Given the description of an element on the screen output the (x, y) to click on. 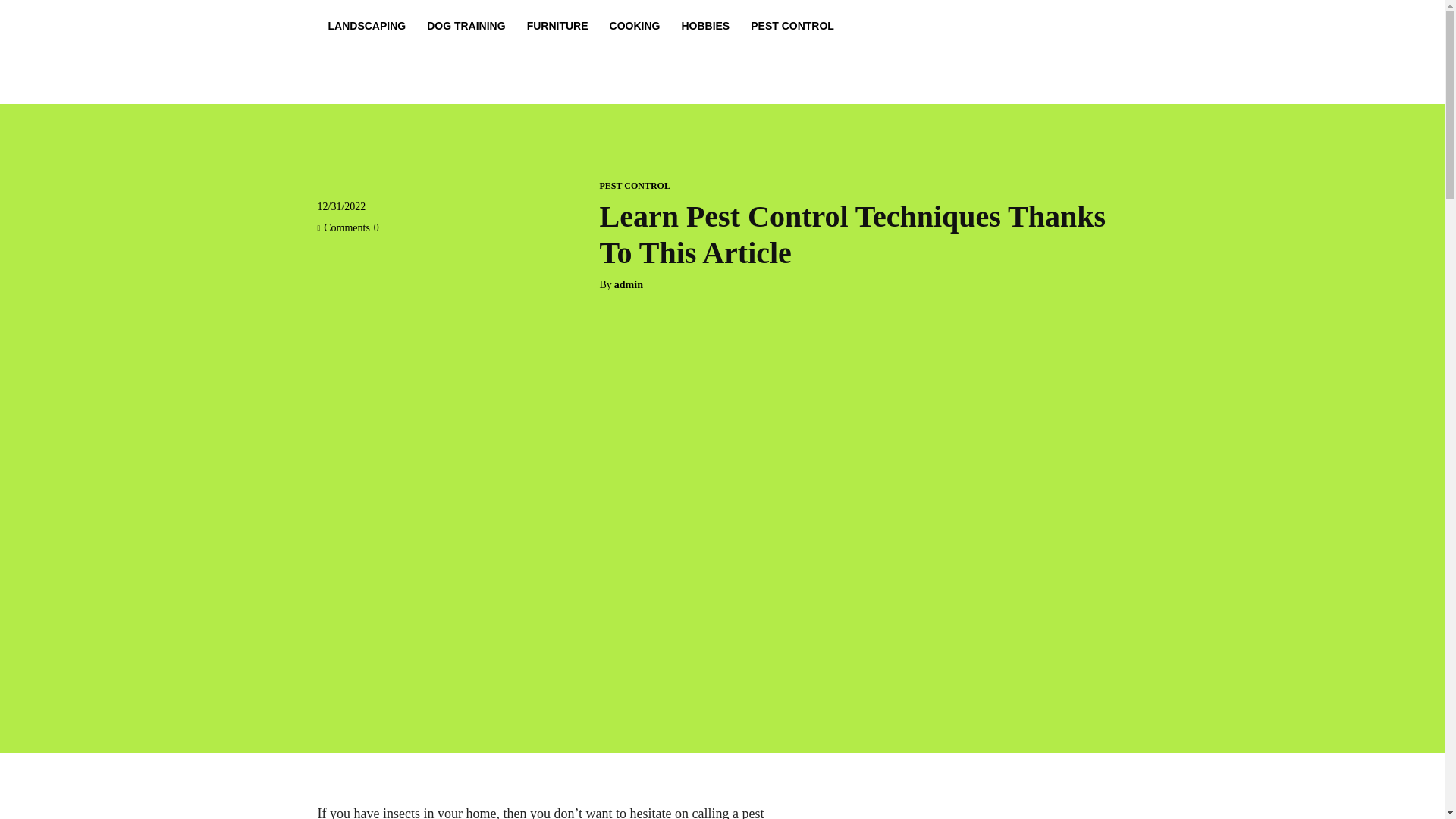
LANDSCAPING (366, 25)
PEST CONTROL (791, 25)
admin (628, 285)
COOKING (634, 25)
FURNITURE (557, 25)
HOBBIES (704, 25)
DOG TRAINING (465, 25)
PEST CONTROL (633, 185)
Comments0 (347, 227)
